Given the description of an element on the screen output the (x, y) to click on. 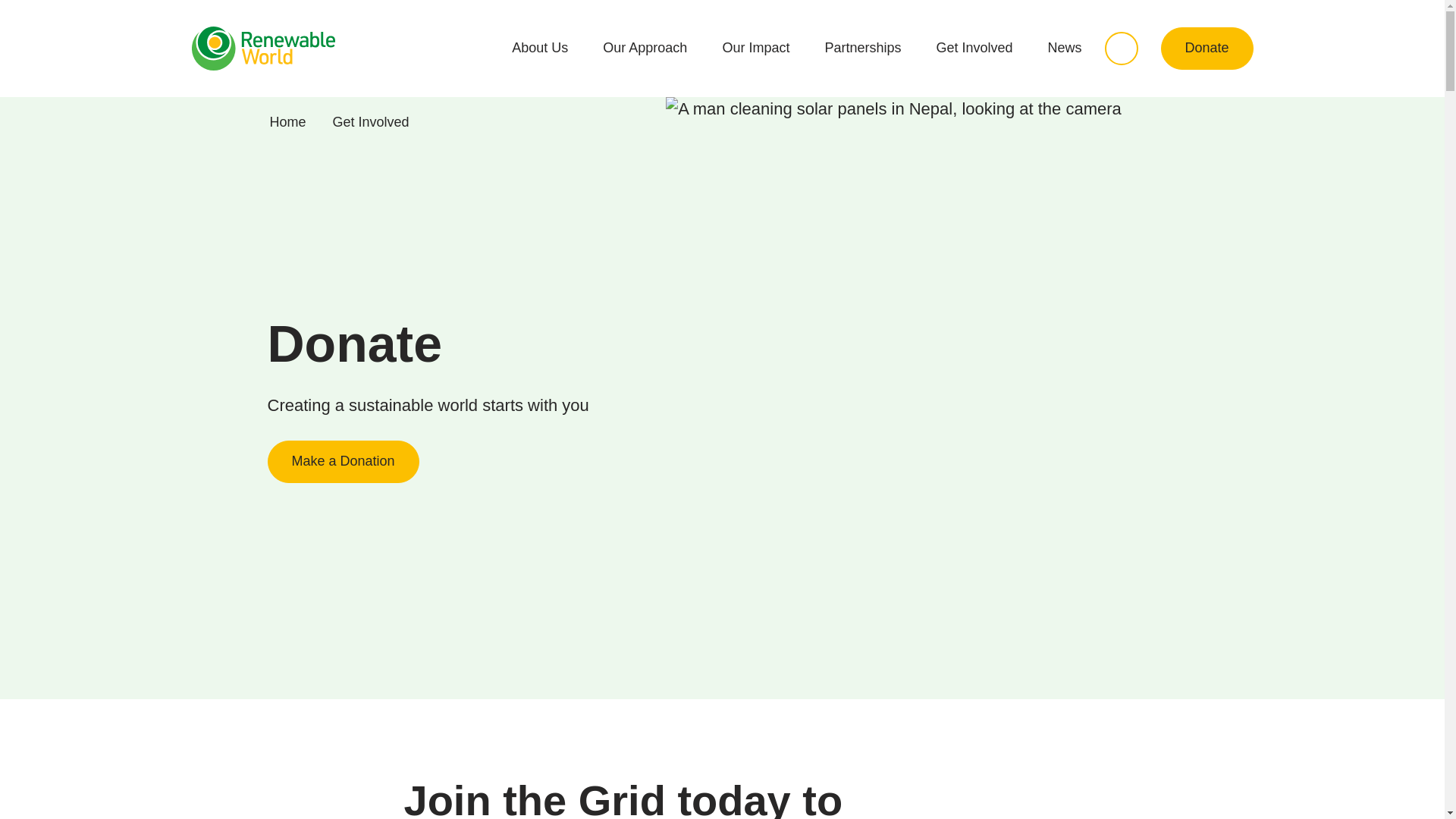
Get Involved (371, 121)
Make a Donation (342, 461)
Our Approach (644, 48)
Expand the search field (1121, 48)
Donate (1206, 48)
Expand or collapse a sub menu (698, 47)
Partnerships (862, 48)
Home (287, 121)
Expand or collapse a sub menu (912, 47)
Our Impact (755, 48)
Expand or collapse a sub menu (800, 47)
Expand or collapse a sub menu (579, 47)
Expand or collapse a sub menu (1024, 47)
News (1064, 48)
Get Involved (973, 48)
